Given the description of an element on the screen output the (x, y) to click on. 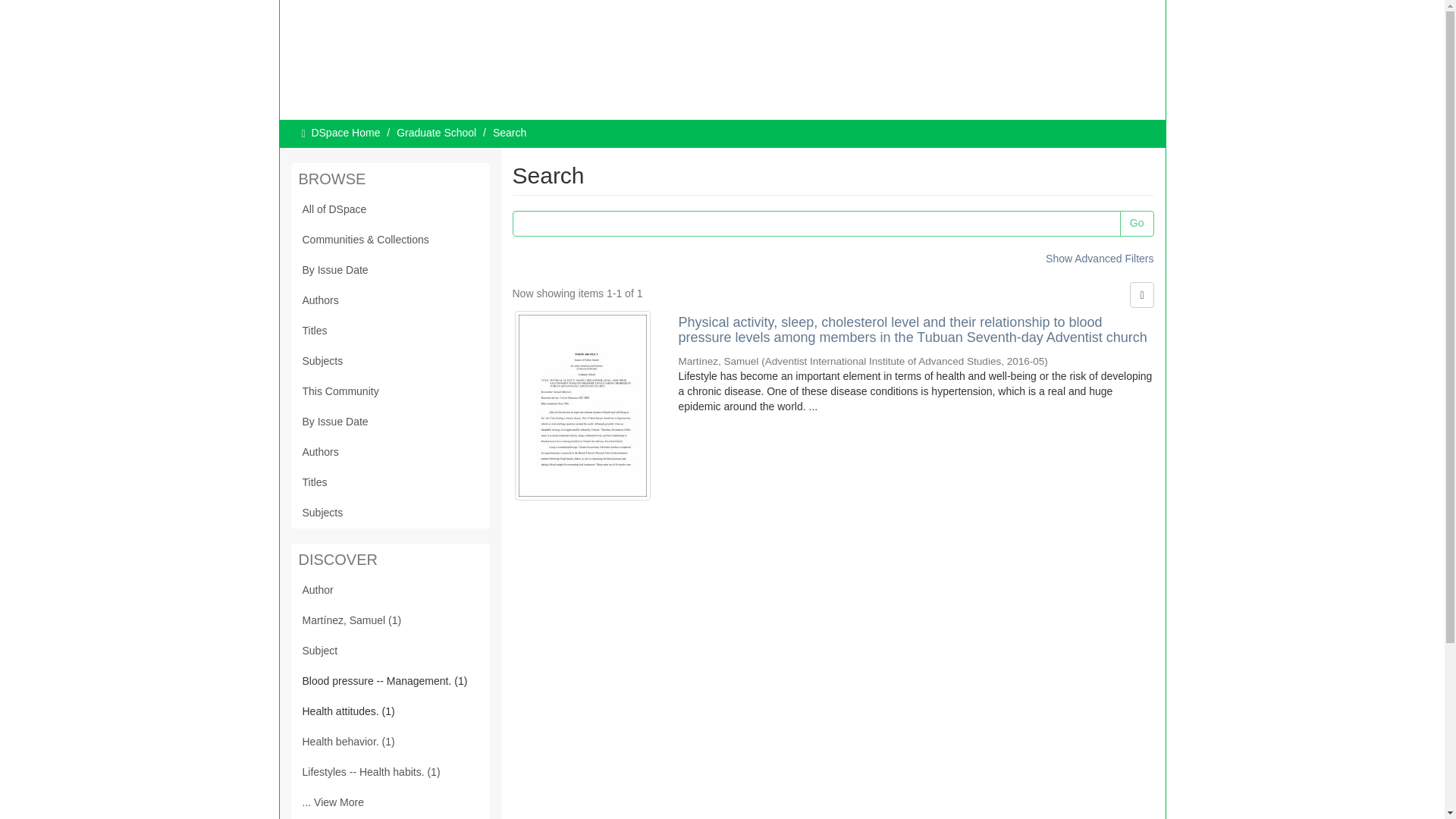
All of DSpace (390, 209)
Graduate School (436, 132)
Show Advanced Filters (1099, 258)
DSpace Home (345, 132)
By Issue Date (390, 270)
Go (1136, 223)
